Given the description of an element on the screen output the (x, y) to click on. 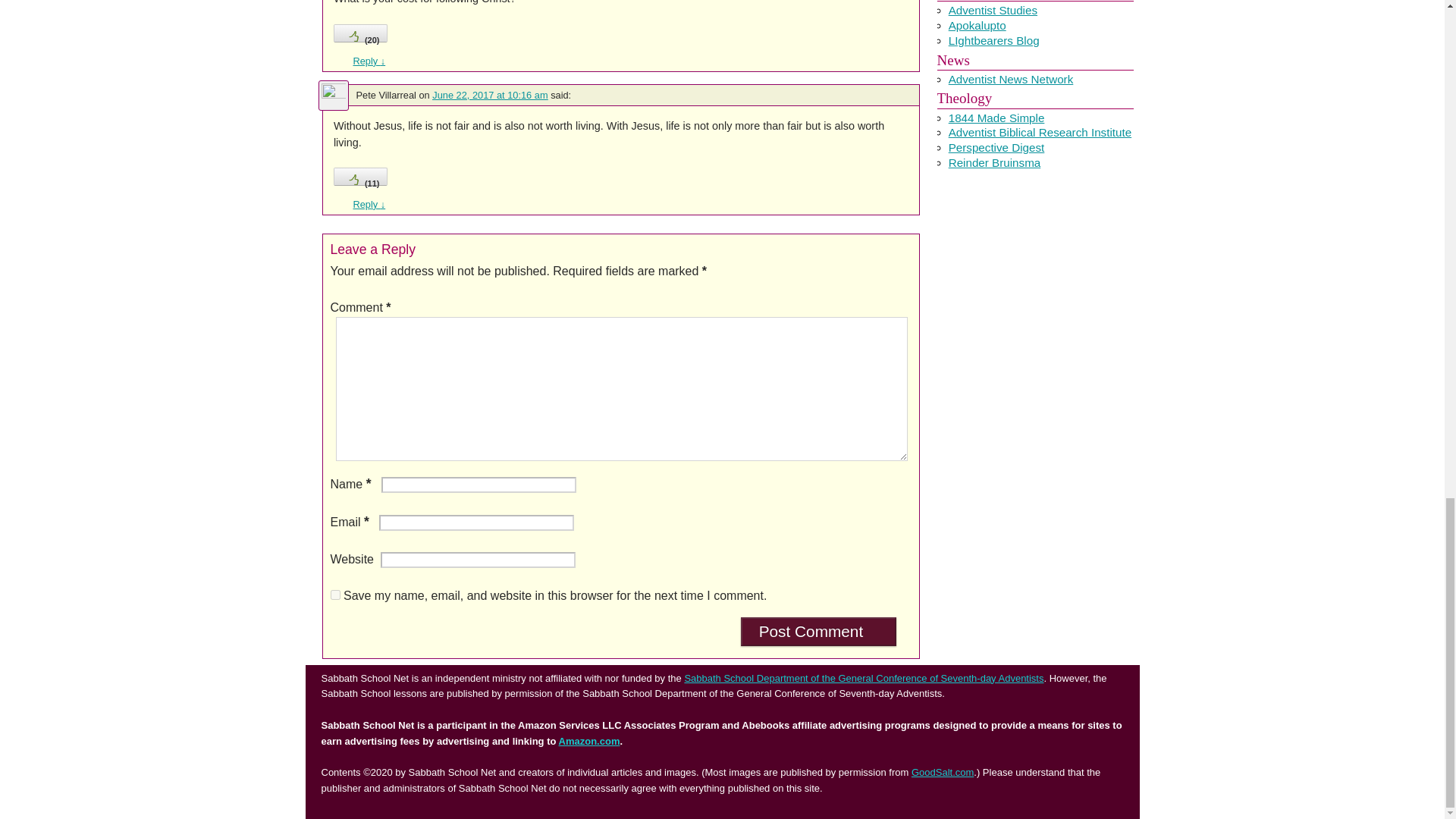
yes (335, 594)
Publication of Adventist Theological Society (997, 146)
Official Adventist News Network (1011, 78)
 David Hamstra blog (977, 24)
Post Comment (818, 631)
by Arthur Patrick of Avondale (992, 10)
